Given the description of an element on the screen output the (x, y) to click on. 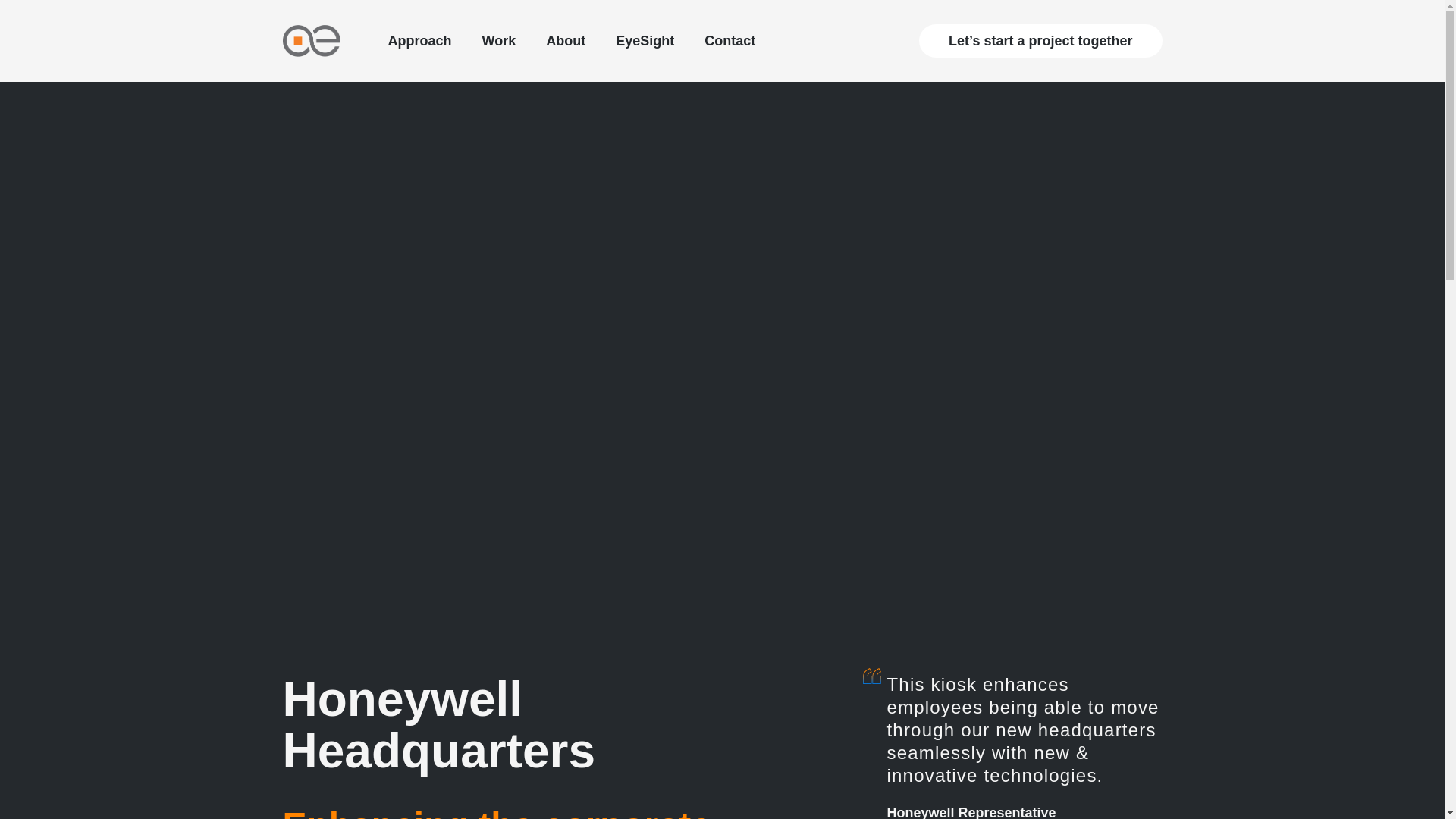
About (565, 40)
Approach (419, 40)
EyeSight (644, 40)
Work (498, 40)
Contact (729, 40)
